Given the description of an element on the screen output the (x, y) to click on. 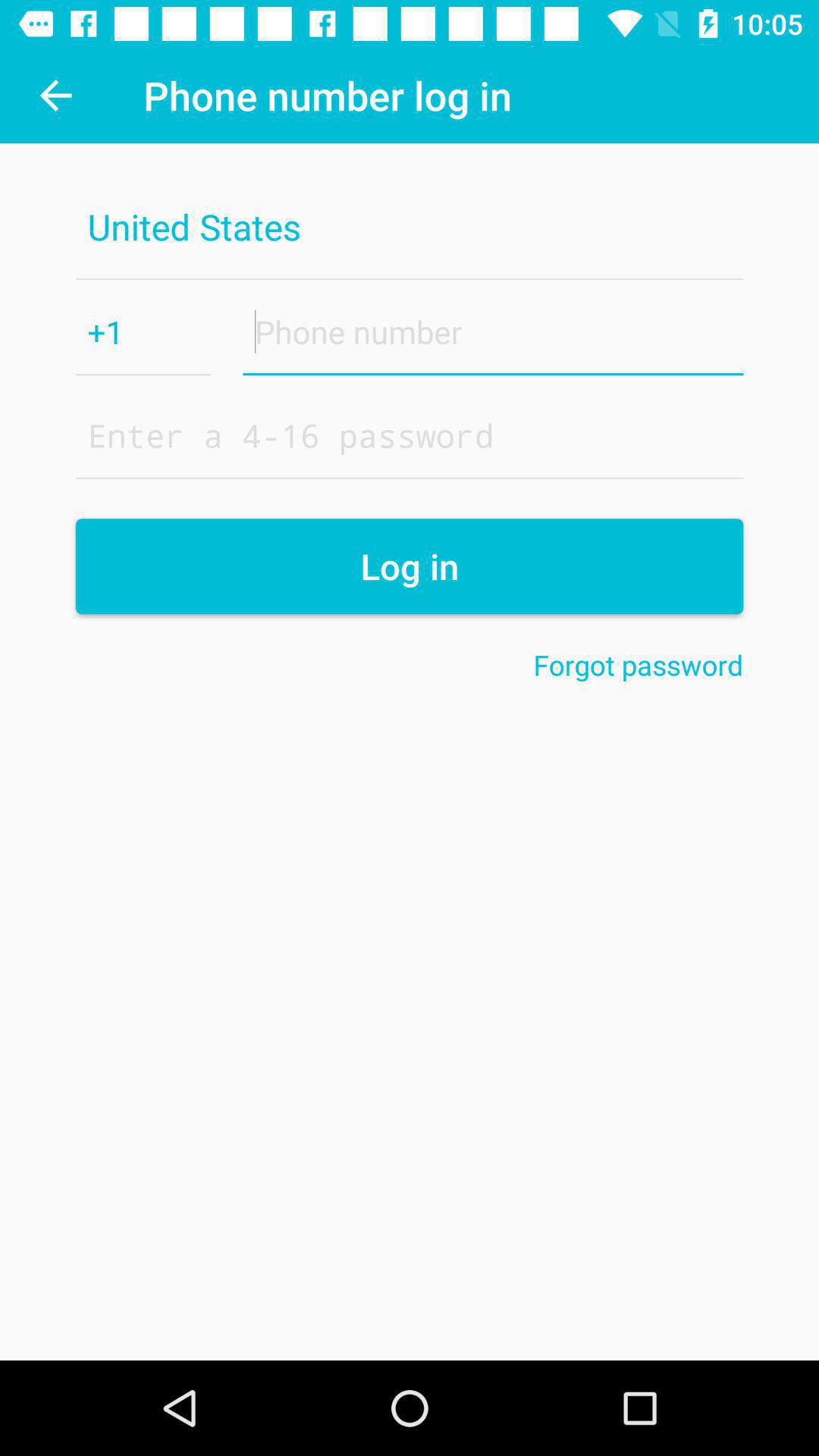
click the item below the log in (638, 664)
